Given the description of an element on the screen output the (x, y) to click on. 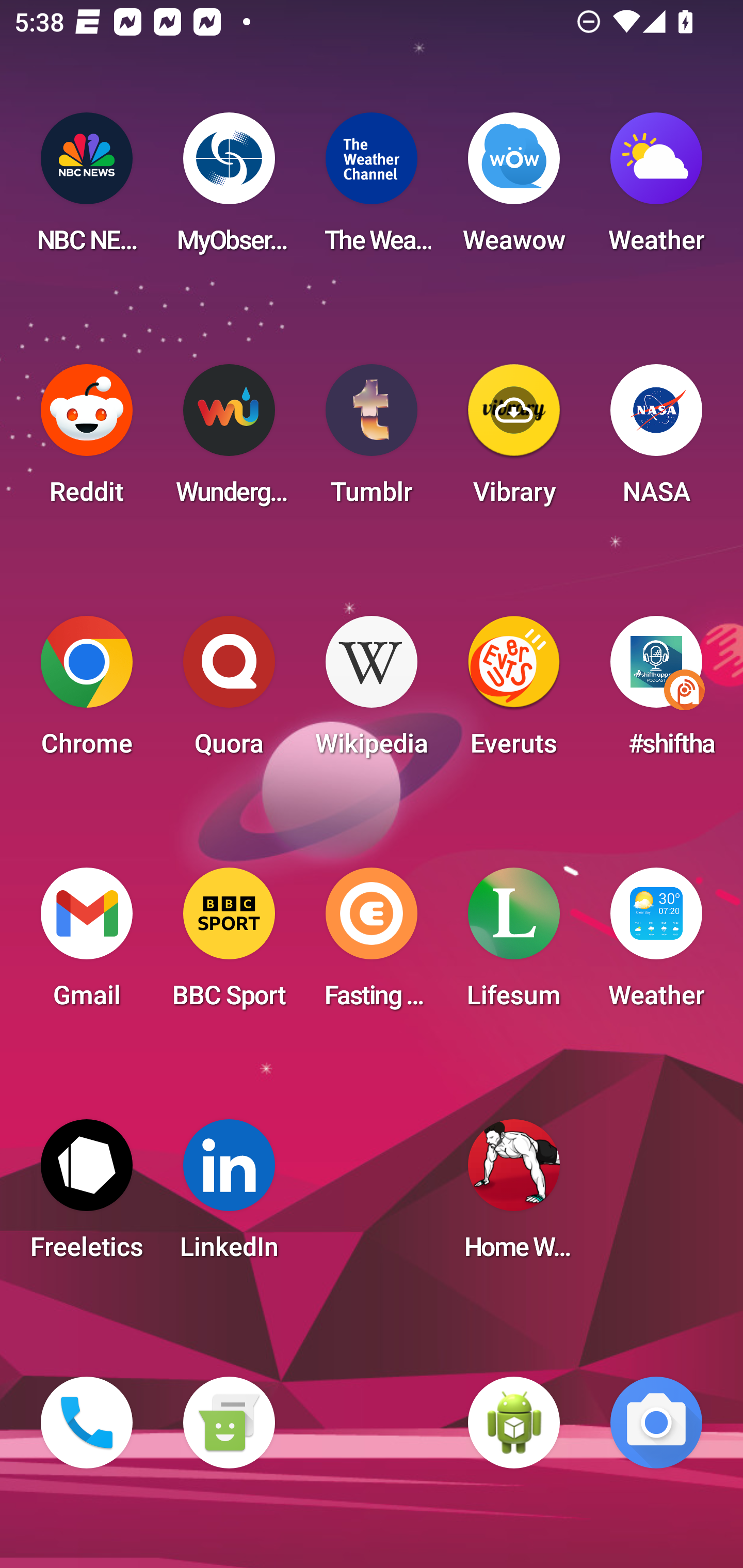
NBC NEWS (86, 188)
MyObservatory (228, 188)
The Weather Channel (371, 188)
Weawow (513, 188)
Weather (656, 188)
Reddit (86, 440)
Wunderground (228, 440)
Tumblr (371, 440)
Vibrary (513, 440)
NASA (656, 440)
Chrome (86, 692)
Quora (228, 692)
Wikipedia (371, 692)
Everuts (513, 692)
#shifthappens in the Digital Workplace Podcast (656, 692)
Gmail (86, 943)
BBC Sport (228, 943)
Fasting Coach (371, 943)
Lifesum (513, 943)
Weather (656, 943)
Freeletics (86, 1195)
LinkedIn (228, 1195)
Home Workout (513, 1195)
Phone (86, 1422)
Messaging (228, 1422)
WebView Browser Tester (513, 1422)
Camera (656, 1422)
